Given the description of an element on the screen output the (x, y) to click on. 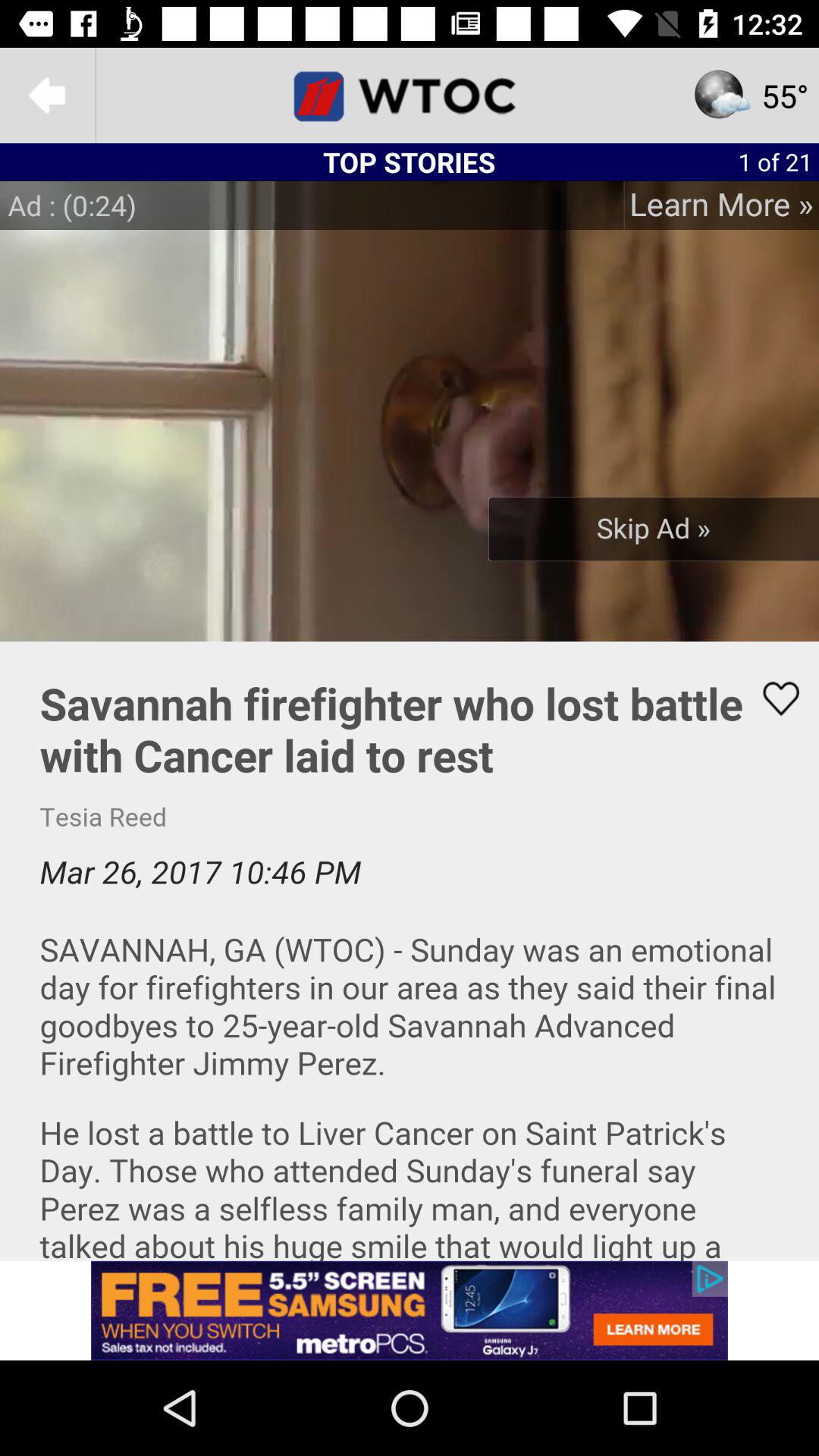
television station licensed (409, 95)
